Given the description of an element on the screen output the (x, y) to click on. 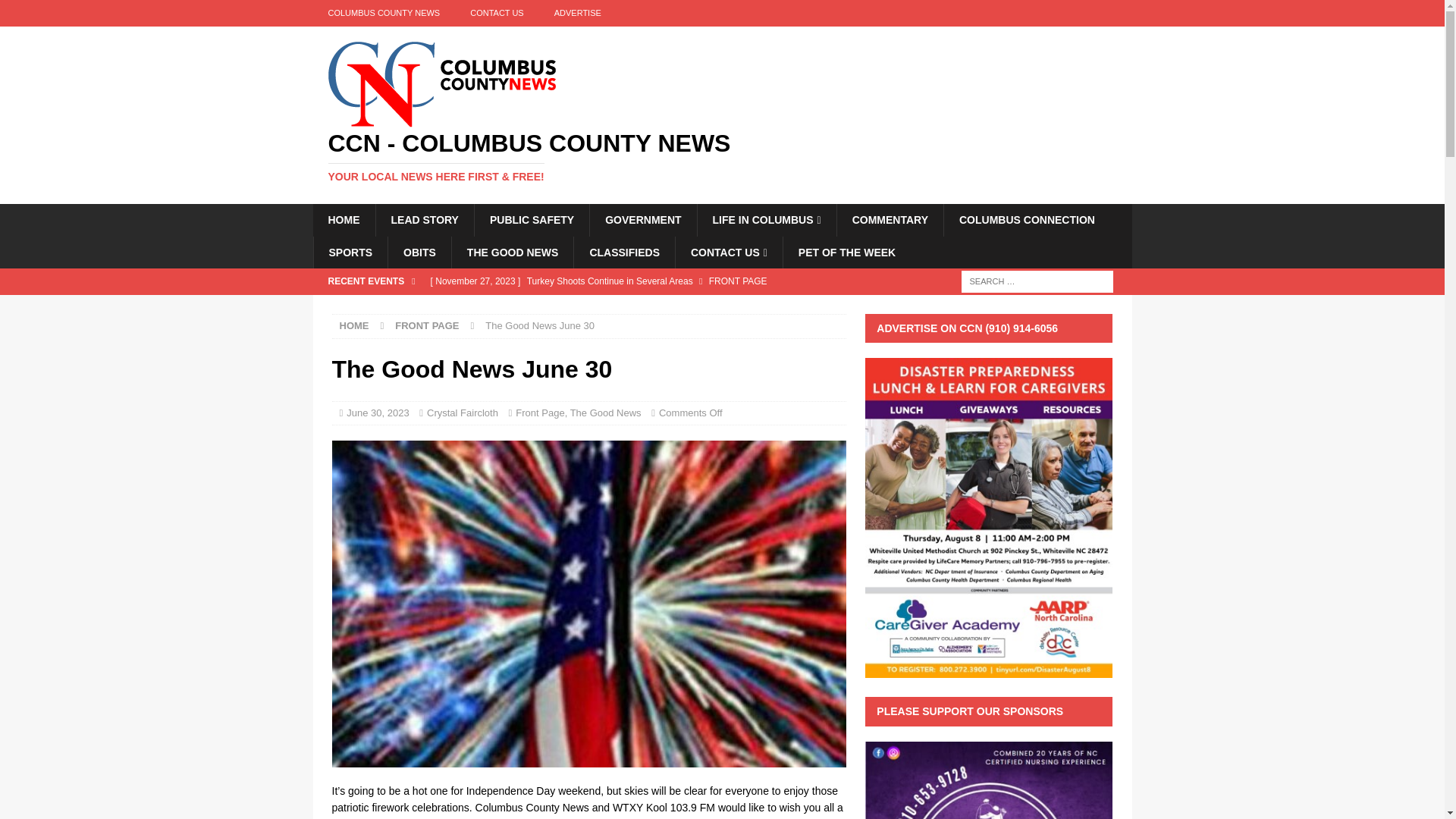
2023 Trick or Treat Guide (633, 306)
Turkey Shoots Continue in Several Areas (633, 281)
ADVERTISE (576, 13)
CONTACT US (496, 13)
CCN - Columbus County News (721, 156)
GOVERNMENT (642, 219)
LIFE IN COLUMBUS (766, 219)
LEAD STORY (423, 219)
HOME (343, 219)
